Given the description of an element on the screen output the (x, y) to click on. 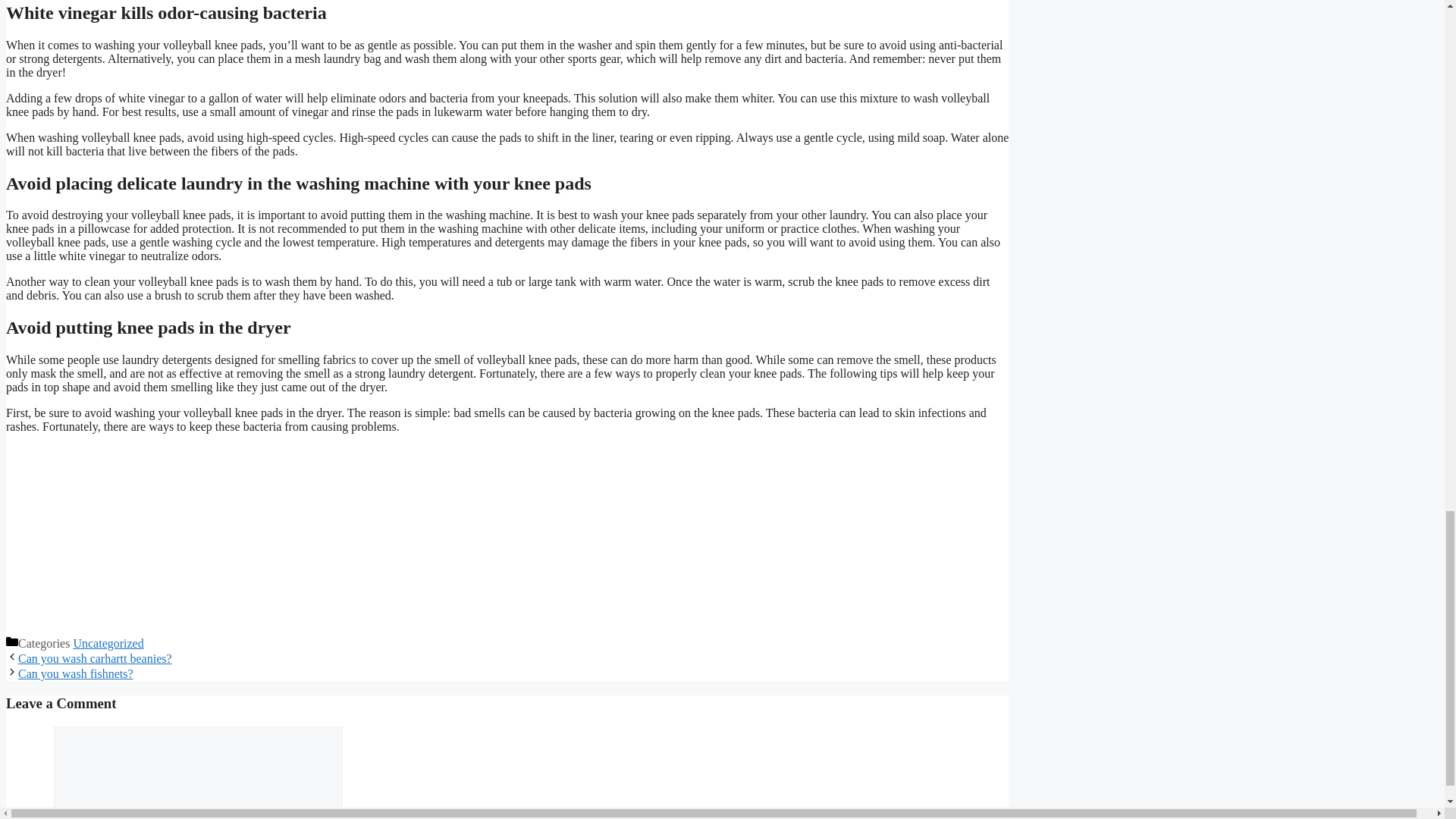
Can you wash carhartt beanies? (94, 658)
Can you wash fishnets? (75, 673)
Uncategorized (107, 643)
